Given the description of an element on the screen output the (x, y) to click on. 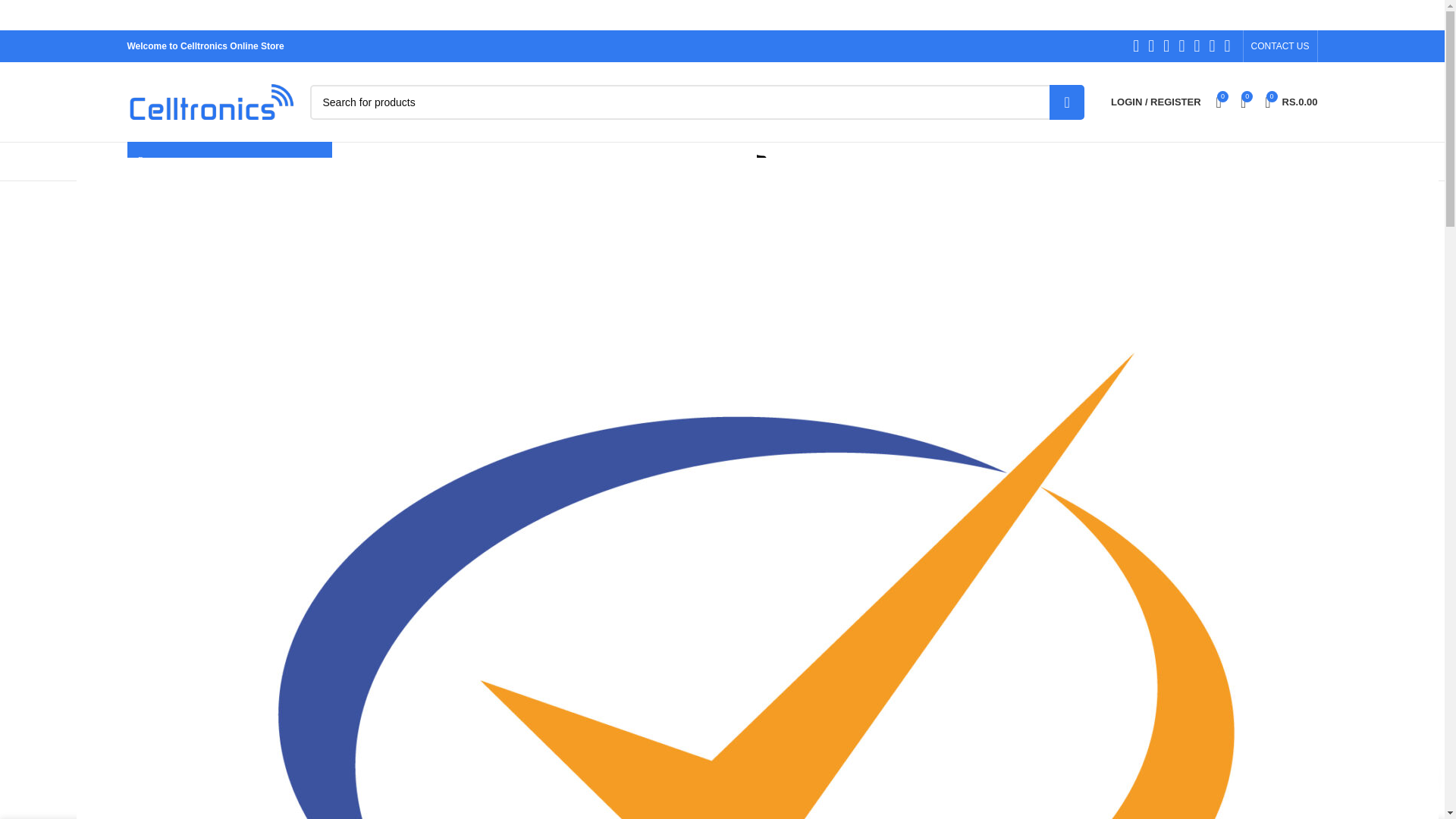
SEARCH (1066, 102)
My Wishlist (1218, 101)
CONTACT US (1279, 46)
0 (1243, 101)
Search for products (696, 102)
Compare products (1243, 101)
My account (1290, 101)
0 (1155, 101)
Shopping cart (1218, 101)
